Given the description of an element on the screen output the (x, y) to click on. 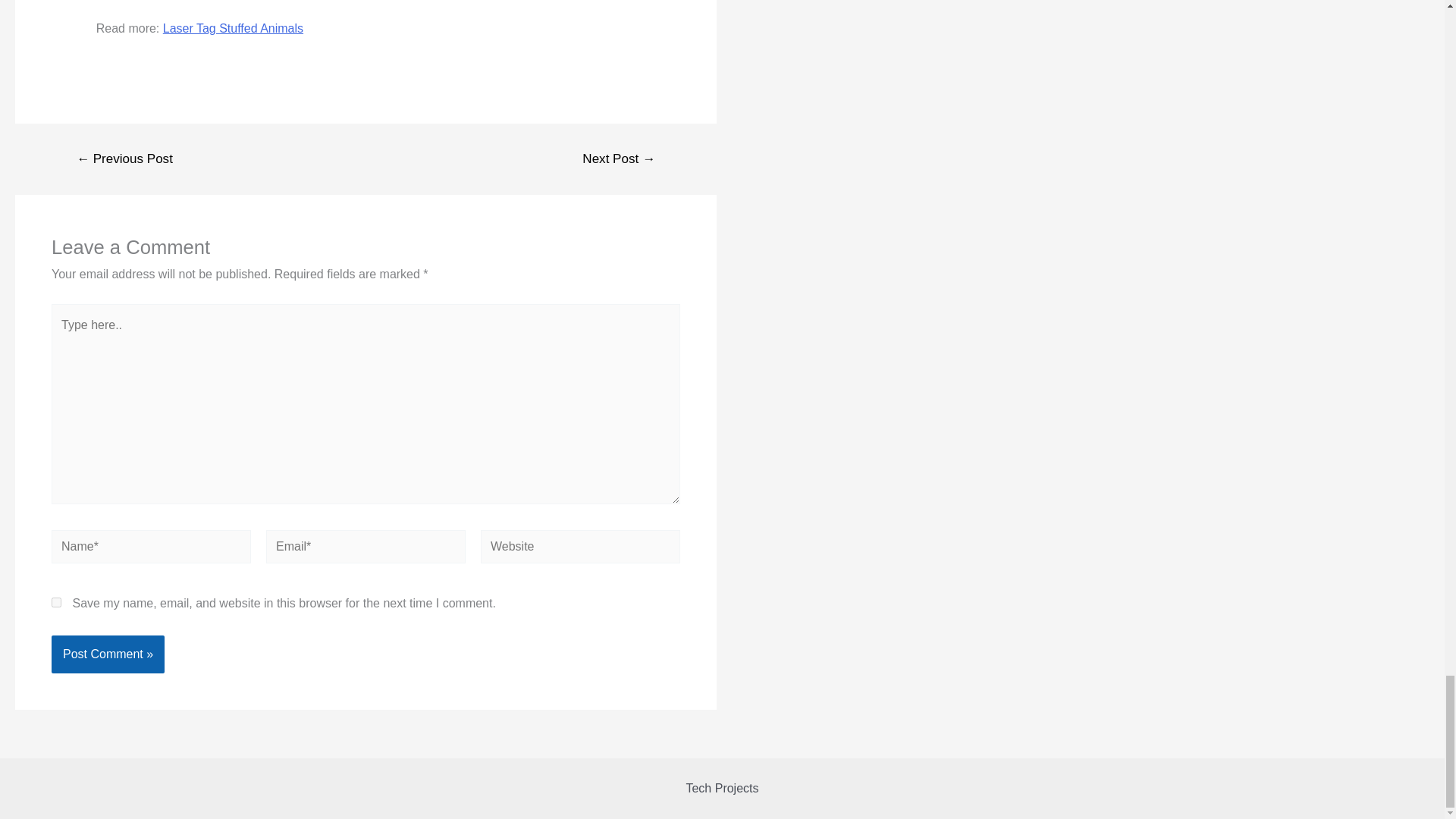
Laser Tag Stuffed Animals (232, 28)
Laser Tag Stuffed Animals (232, 28)
yes (55, 602)
